Given the description of an element on the screen output the (x, y) to click on. 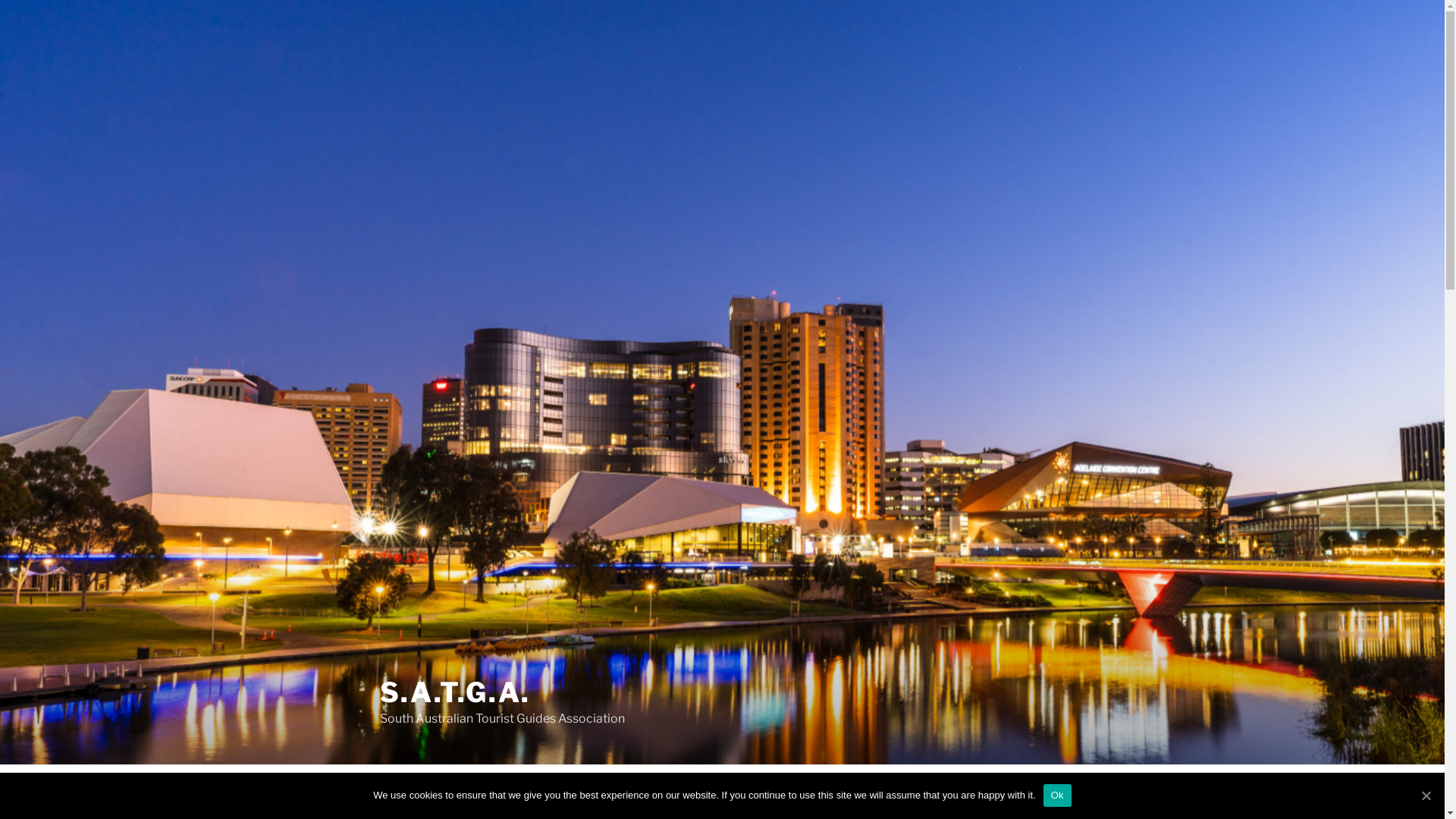
WELCOME Element type: text (405, 791)
Skip to content Element type: text (0, 0)
Scroll down to content Element type: text (1083, 790)
ABOUT SATGA Element type: text (501, 791)
RELATED LINKS Element type: text (713, 791)
MEMBERSHIP Element type: text (605, 791)
Ok Element type: text (1057, 795)
CONTACT Element type: text (809, 791)
LEGAL Element type: text (883, 791)
S.A.T.G.A. Element type: text (454, 692)
